Given the description of an element on the screen output the (x, y) to click on. 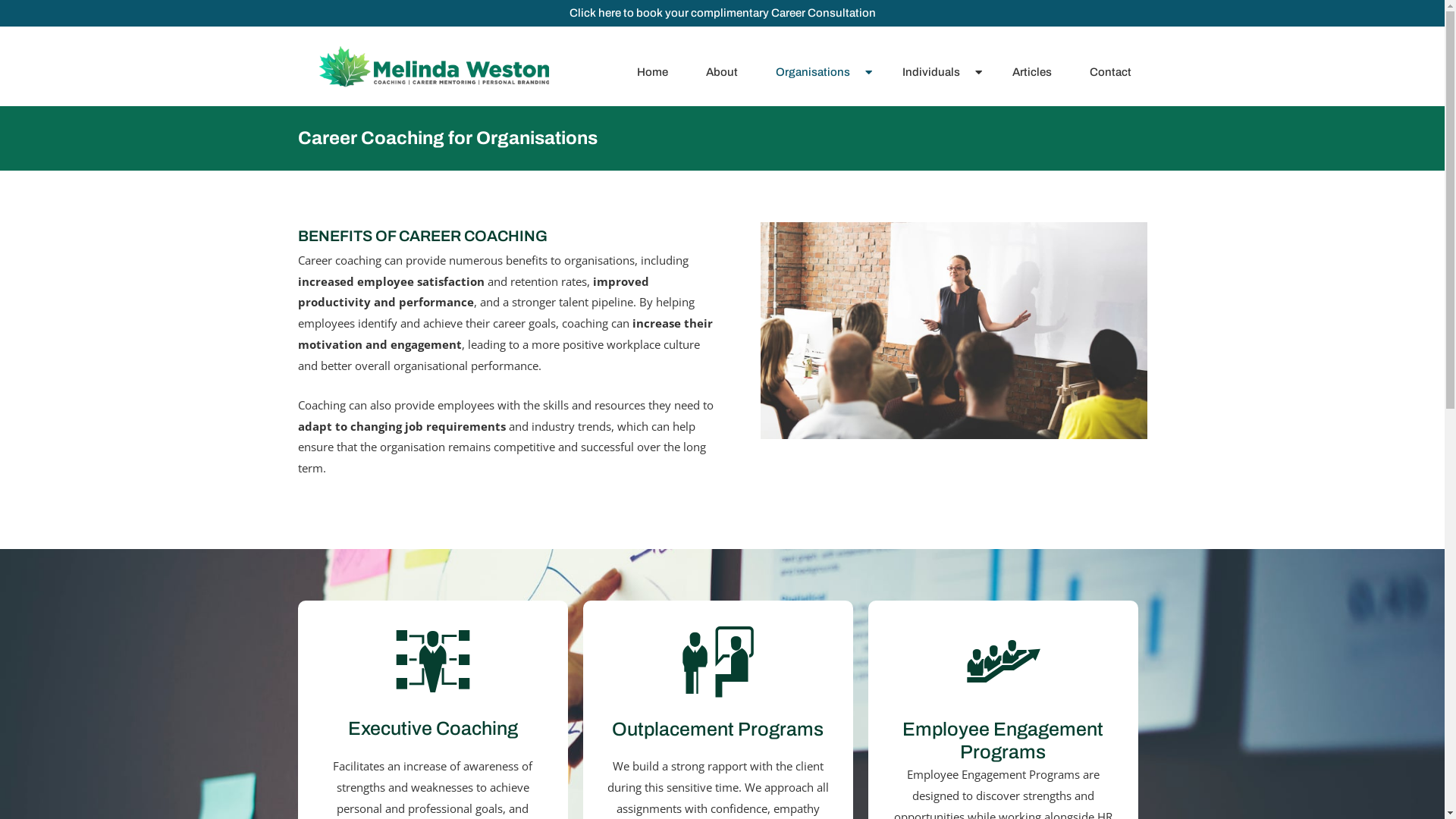
Articles Element type: text (1035, 71)
Outplacement Programs Element type: text (717, 728)
Individuals Element type: text (942, 71)
Contact Element type: text (1114, 71)
Home Element type: text (655, 71)
Employee Engagement Programs Element type: text (1002, 740)
About Element type: text (725, 71)
Click here to book your complimentary Career Consultation Element type: text (722, 13)
Executive Coaching Element type: text (432, 728)
Organisations Element type: text (823, 71)
